Given the description of an element on the screen output the (x, y) to click on. 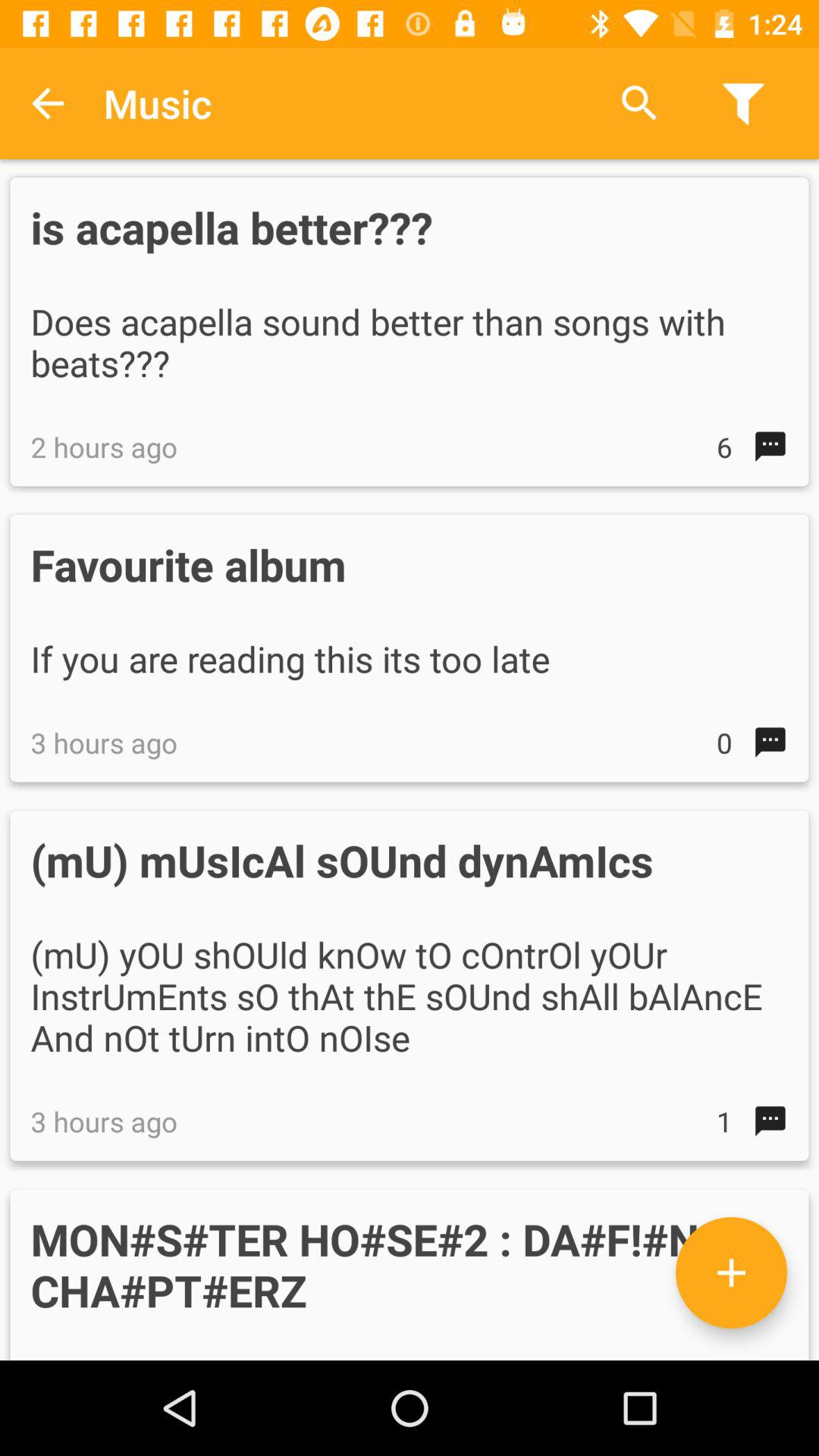
create new button (731, 1272)
